Given the description of an element on the screen output the (x, y) to click on. 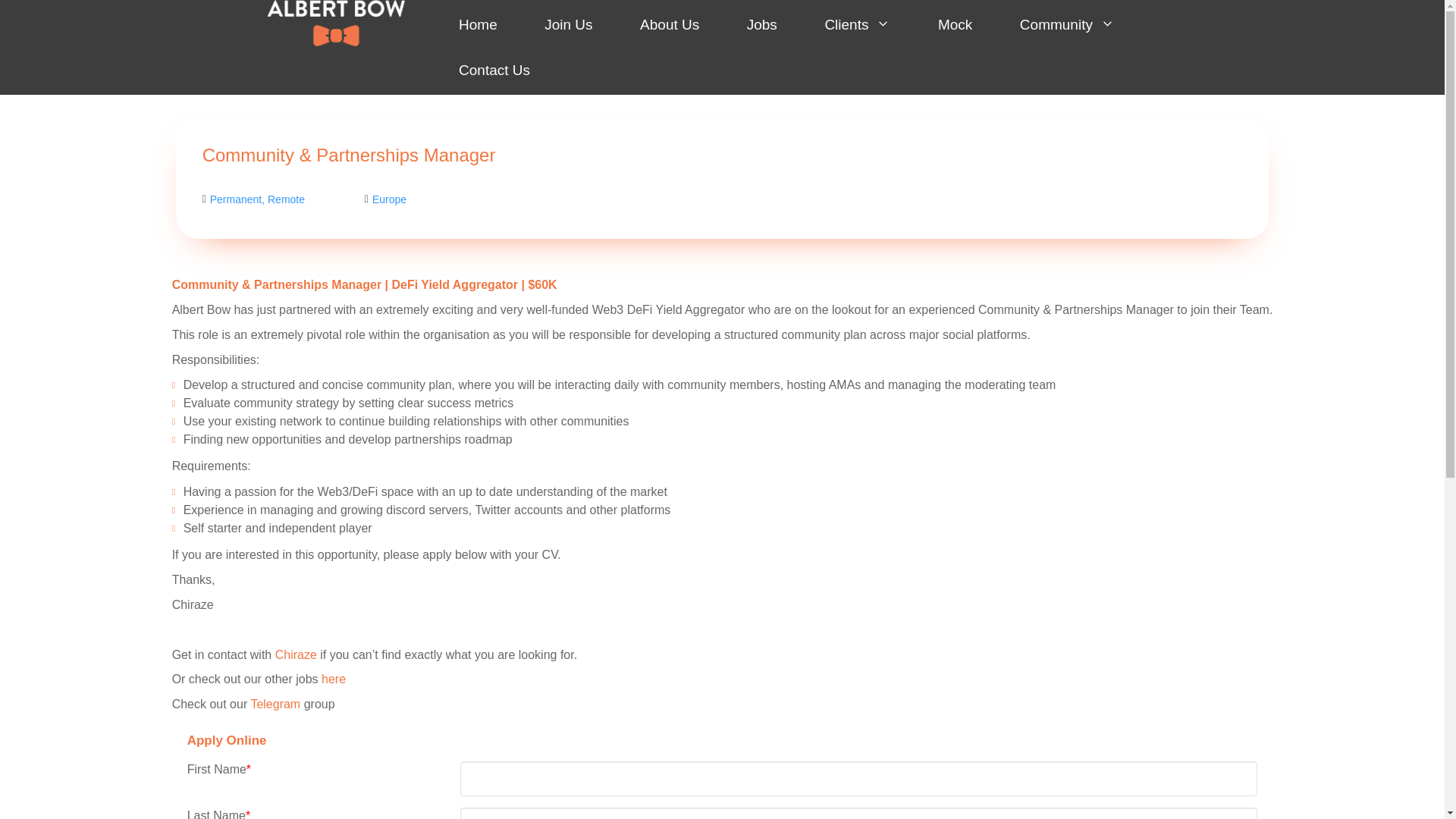
Mock (955, 23)
here (333, 678)
About Us (669, 23)
Albert Bow (335, 22)
Clients (857, 23)
Community (1066, 23)
Join Us (568, 23)
Home (478, 23)
Albert Bow (335, 22)
Chiraze (296, 654)
